Given the description of an element on the screen output the (x, y) to click on. 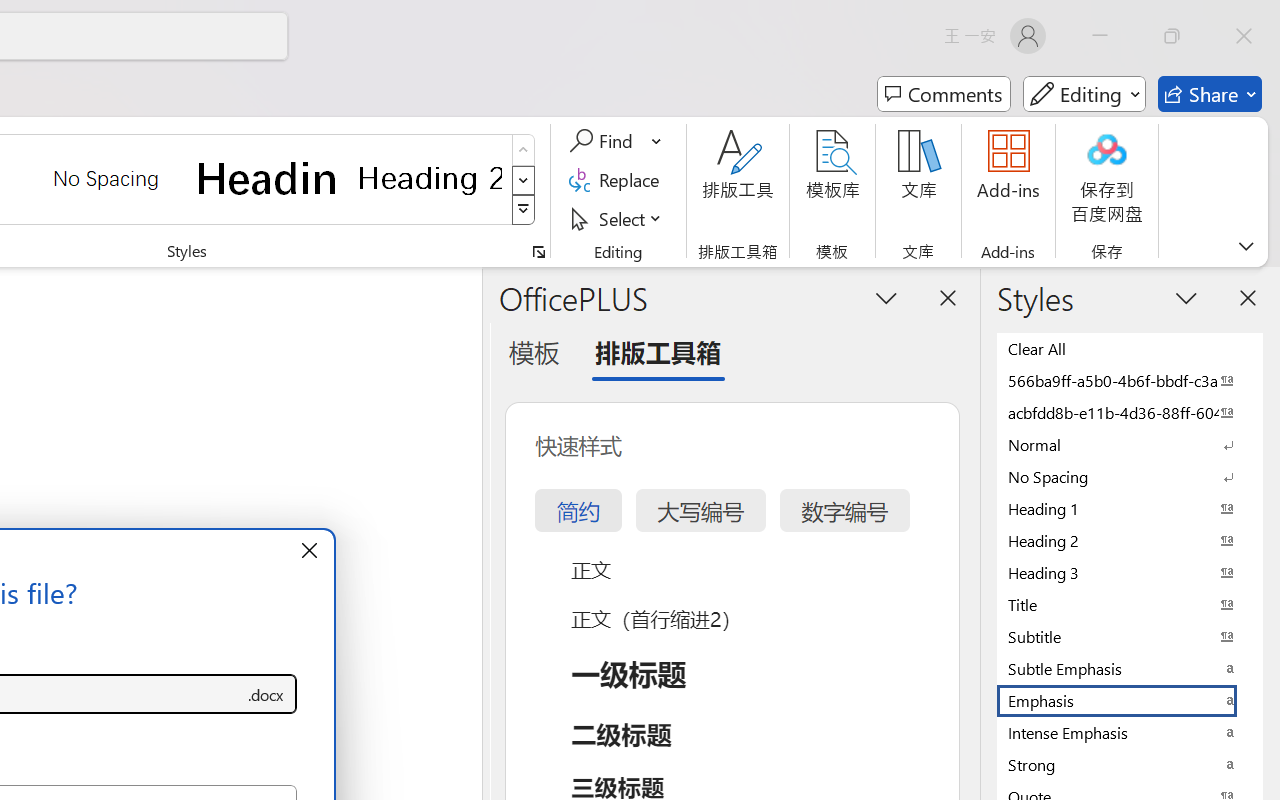
Row Down (523, 180)
Save as type (265, 694)
Emphasis (1130, 700)
Close (1244, 36)
Ribbon Display Options (1246, 245)
Title (1130, 604)
Styles... (538, 252)
Heading 1 (267, 178)
Task Pane Options (886, 297)
